Given the description of an element on the screen output the (x, y) to click on. 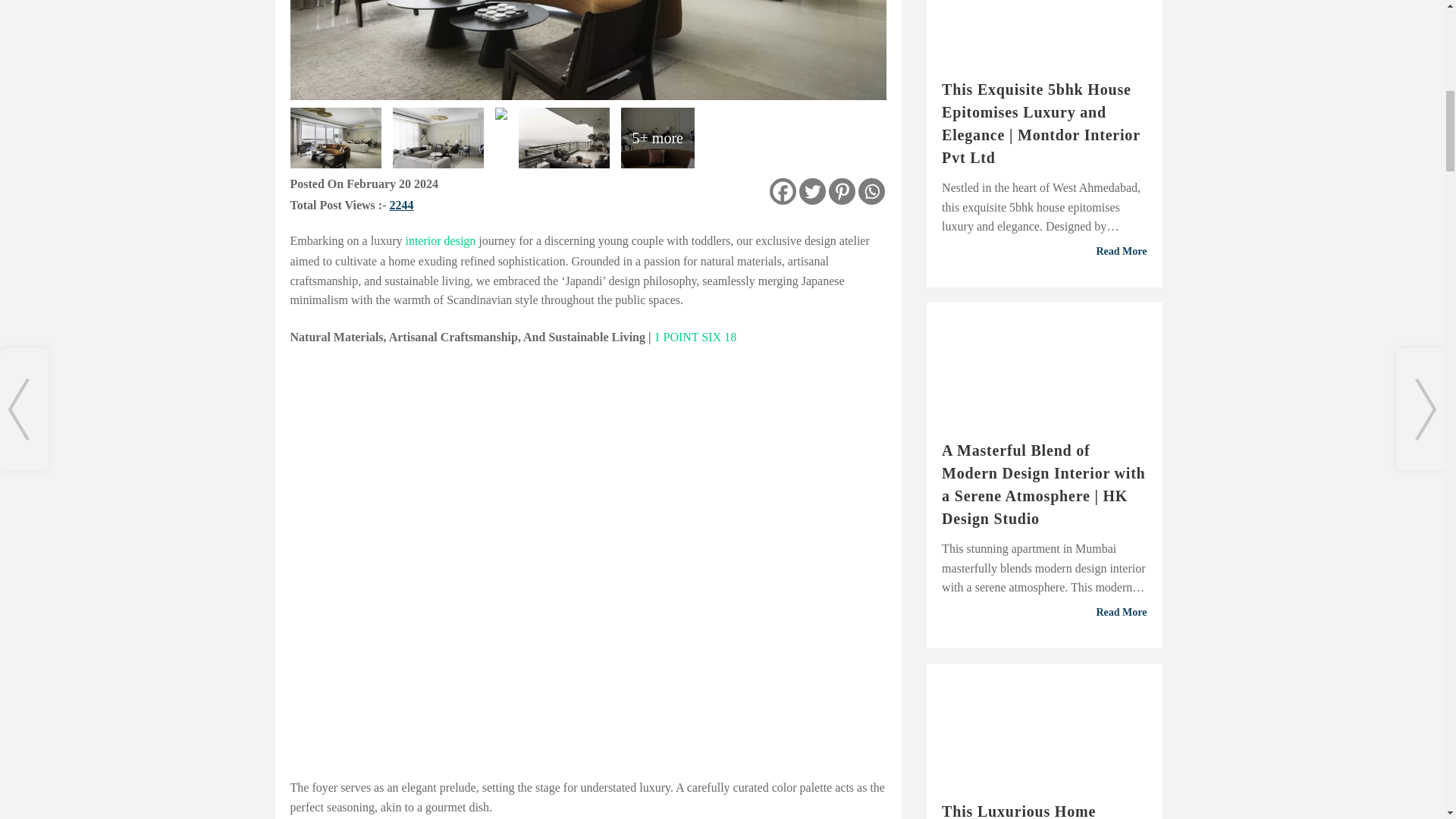
interior design (440, 240)
1 POINT SIX 18 (694, 337)
Read More (1044, 251)
